Given the description of an element on the screen output the (x, y) to click on. 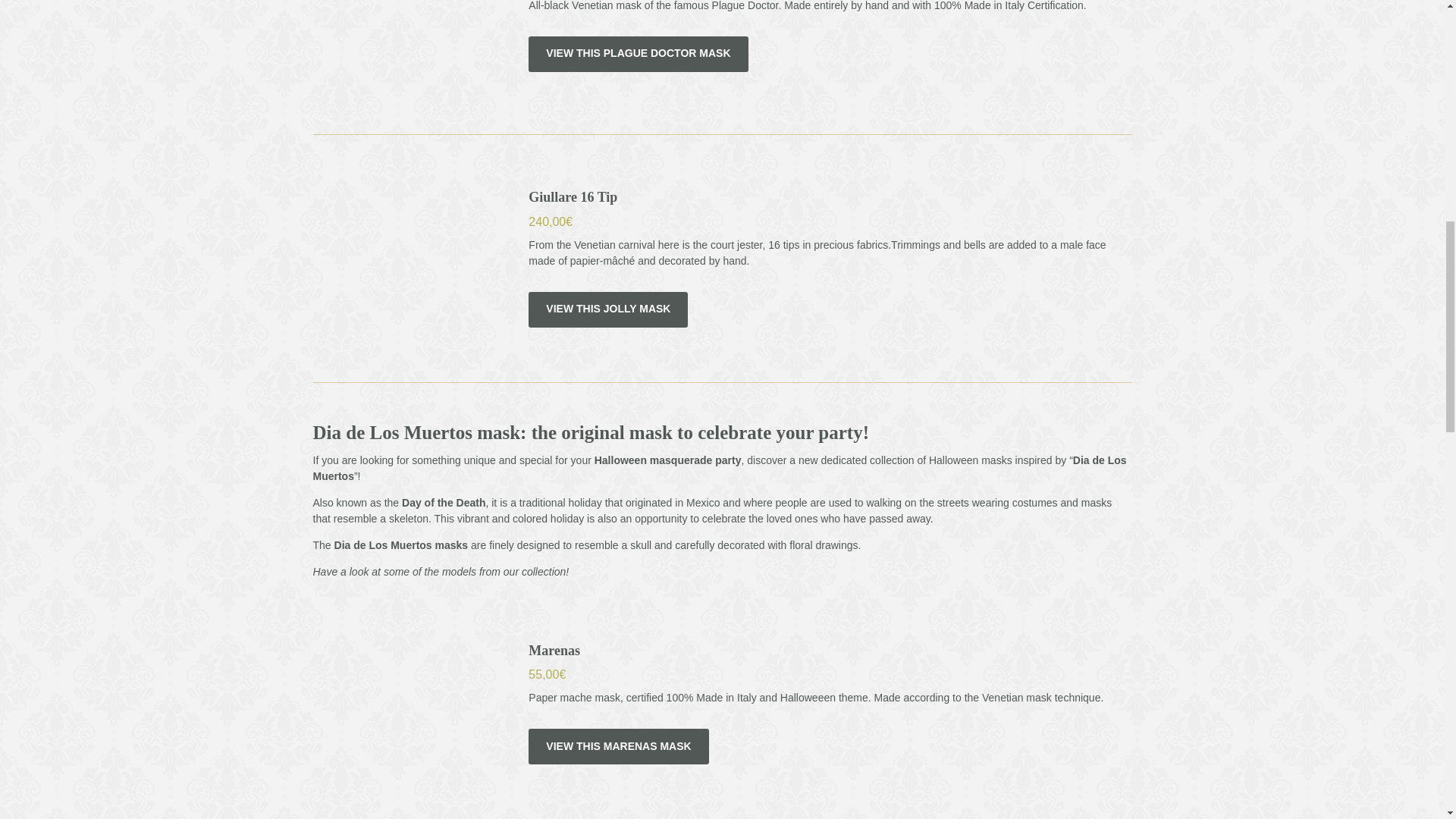
VIEW THIS PLAGUE DOCTOR MASK (638, 54)
VIEW THIS MARENAS MASK (617, 746)
VIEW THIS JOLLY MASK (607, 309)
